Given the description of an element on the screen output the (x, y) to click on. 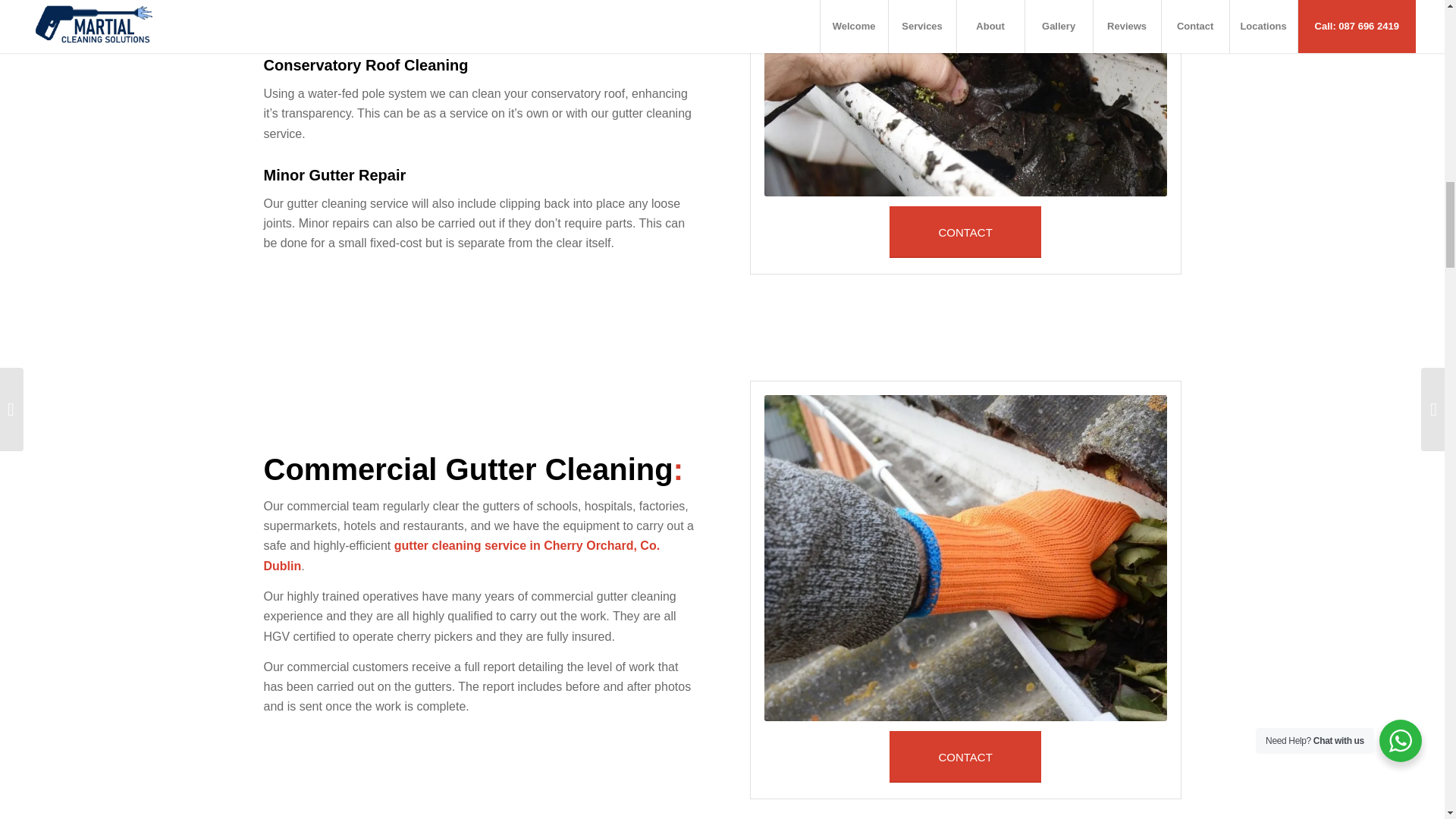
Martial Cleaning Solutions  Wicklow (965, 98)
Martial Cleaning Solutions  Wicklow (965, 557)
CONTACT (965, 756)
CONTACT (965, 231)
